Given the description of an element on the screen output the (x, y) to click on. 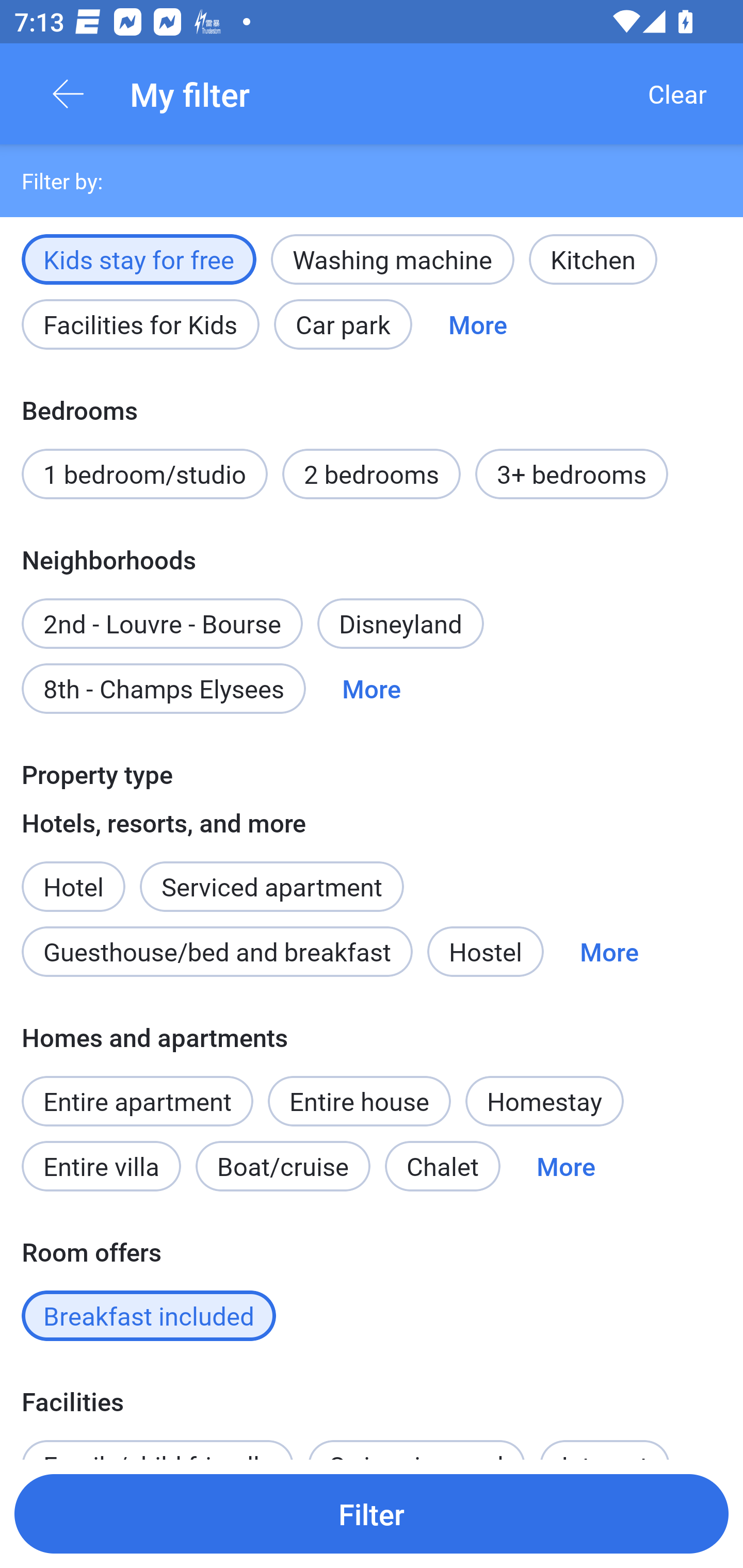
Clear (676, 93)
Washing machine (392, 259)
Kitchen (593, 259)
Facilities for Kids (140, 324)
Car park (343, 324)
More (477, 324)
1 bedroom/studio (144, 474)
2 bedrooms (371, 474)
3+ bedrooms (571, 474)
2nd - Louvre - Bourse (162, 613)
Disneyland (400, 623)
8th - Champs Elysees (163, 689)
More (371, 689)
Hotel (73, 875)
Serviced apartment (271, 875)
Guesthouse/bed and breakfast (217, 951)
Hostel (485, 951)
More (608, 951)
Entire apartment (137, 1101)
Entire house (359, 1101)
Homestay (544, 1101)
Entire villa (101, 1165)
Boat/cruise (282, 1165)
Chalet (442, 1165)
More (565, 1165)
Filter (371, 1513)
